Given the description of an element on the screen output the (x, y) to click on. 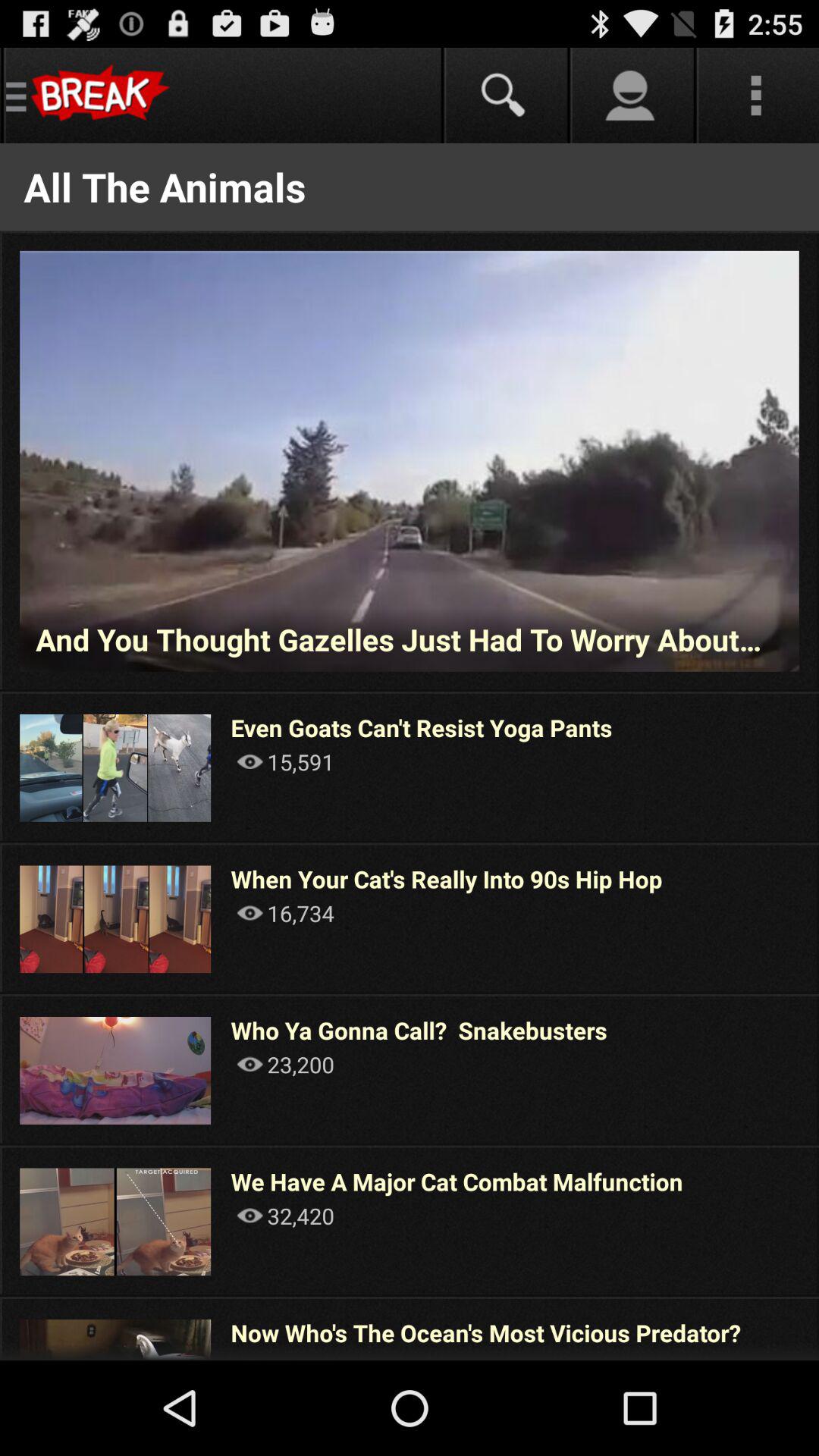
turn on the app to the right of the when your cat item (817, 918)
